Given the description of an element on the screen output the (x, y) to click on. 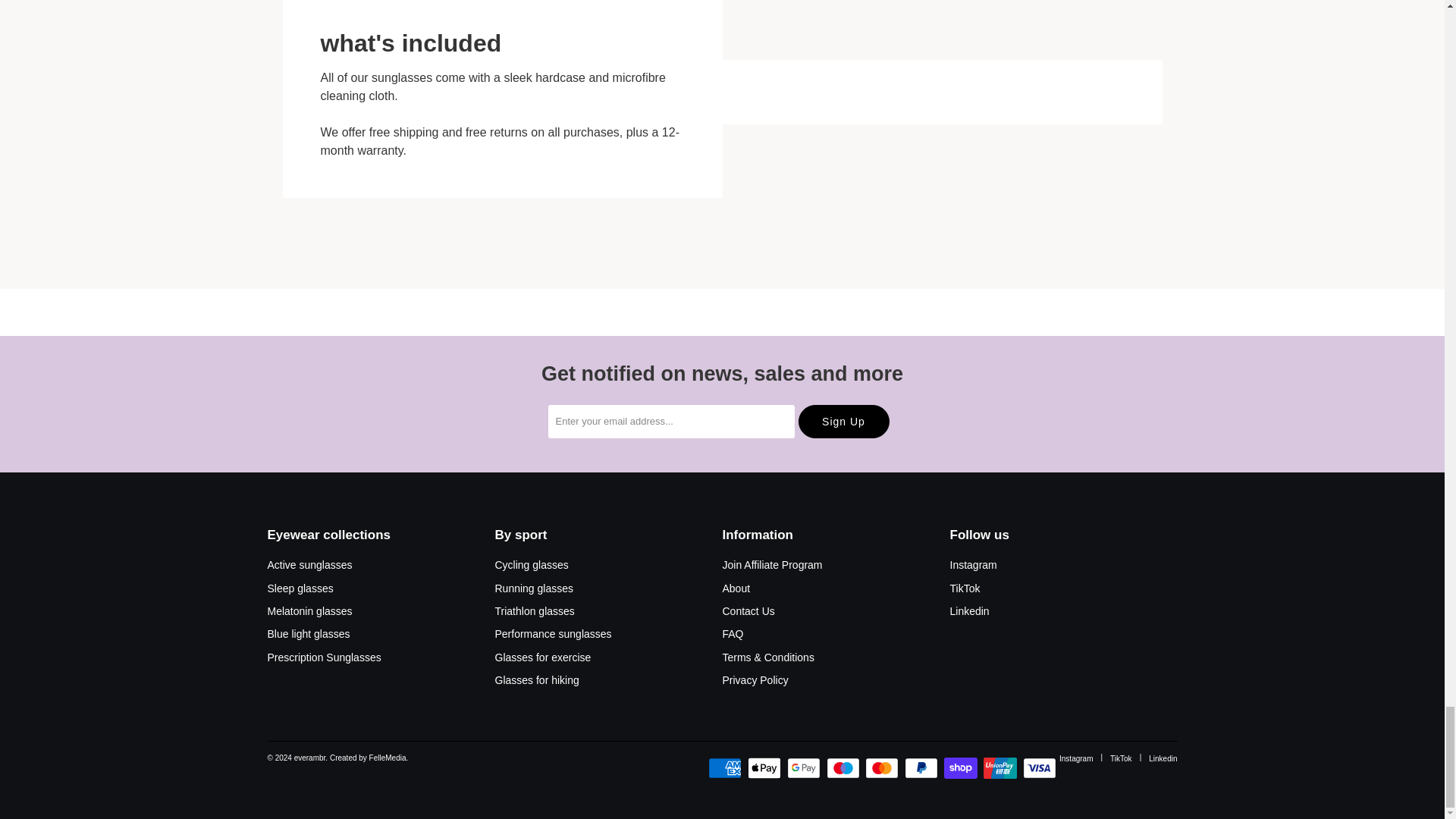
Shop Pay (961, 767)
Union Pay (1002, 767)
Sign Up (842, 421)
Google Pay (805, 767)
Apple Pay (766, 767)
PayPal (922, 767)
American Express (725, 767)
Visa (1041, 767)
FelleMedia: E-commerce Solutions (368, 757)
Mastercard (882, 767)
